Given the description of an element on the screen output the (x, y) to click on. 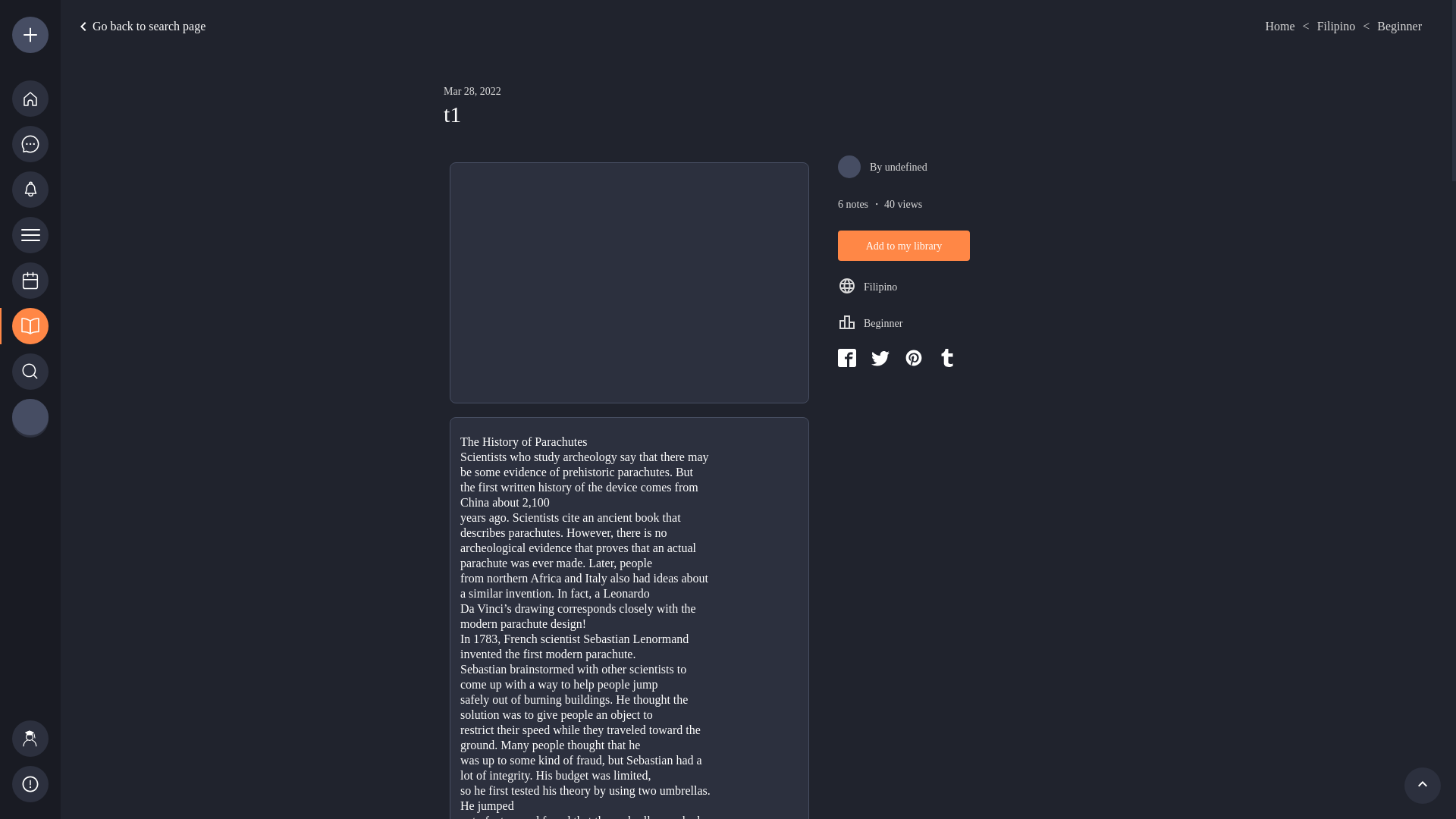
Beginner (1399, 26)
Home (1279, 26)
Filipino (1335, 26)
Add to my library (903, 245)
Go back to search page (256, 26)
